Given the description of an element on the screen output the (x, y) to click on. 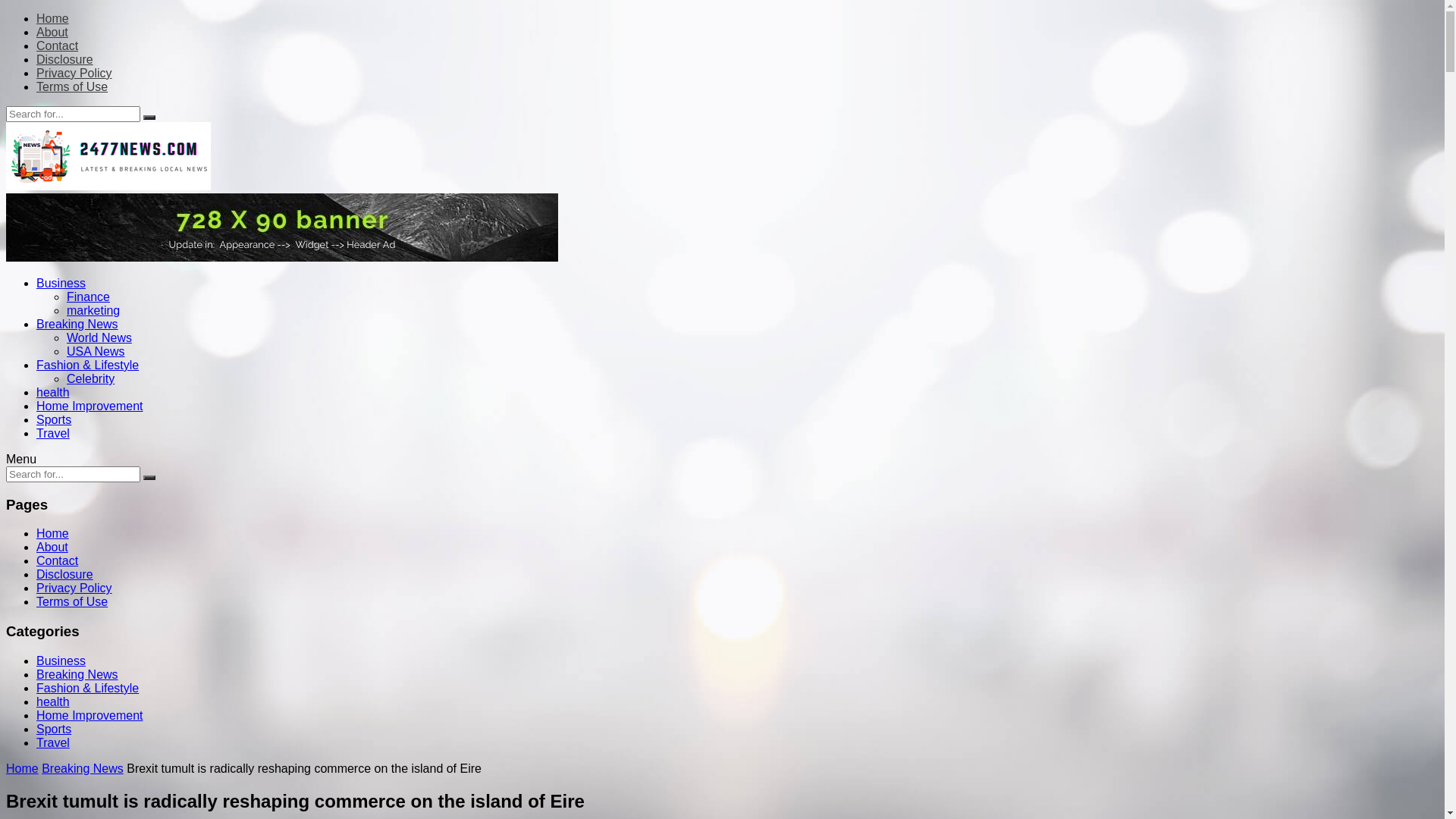
Travel Element type: text (52, 742)
Travel Element type: text (52, 432)
Privacy Policy Element type: text (74, 72)
Contact Element type: text (57, 45)
health Element type: text (52, 701)
Terms of Use Element type: text (71, 601)
Breaking News Element type: text (82, 768)
Home Element type: text (52, 18)
World News Element type: text (98, 337)
Finance Element type: text (87, 296)
About Element type: text (52, 31)
Home Improvement Element type: text (89, 405)
Home Element type: text (22, 768)
Sports Element type: text (53, 728)
About Element type: text (52, 546)
Sports Element type: text (53, 419)
Celebrity Element type: text (90, 378)
Privacy Policy Element type: text (74, 587)
Business Element type: text (60, 660)
Fashion & Lifestyle Element type: text (87, 687)
marketing Element type: text (92, 310)
Disclosure Element type: text (64, 573)
Fashion & Lifestyle Element type: text (87, 364)
Contact Element type: text (57, 560)
Breaking News Element type: text (77, 323)
Business Element type: text (60, 282)
Breaking News Element type: text (77, 674)
Home Element type: text (52, 533)
USA News Element type: text (95, 351)
Home Improvement Element type: text (89, 715)
Terms of Use Element type: text (71, 86)
health Element type: text (52, 391)
Disclosure Element type: text (64, 59)
